Given the description of an element on the screen output the (x, y) to click on. 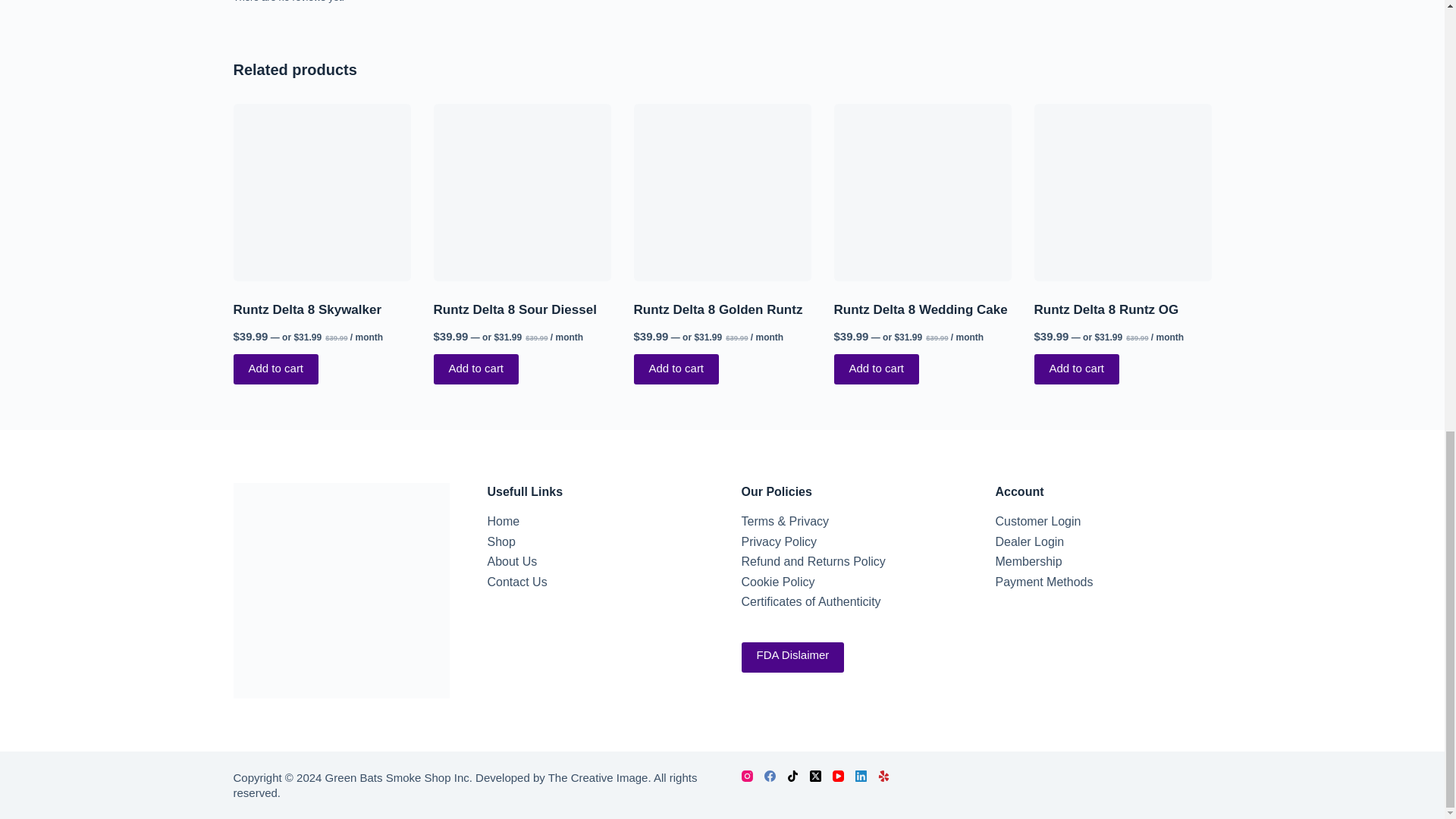
Runtz  Delta 8  Sour Diessel 1 (522, 192)
Runtz  Delta 8  Wedding Cake 1 (922, 192)
Runtz  Delta 8  Skywalker 1 (321, 192)
Runtz  Delta 8  Golden Runtz 1 (721, 192)
Runtz  Delta 8  Runtz OG 1 (1122, 192)
